Given the description of an element on the screen output the (x, y) to click on. 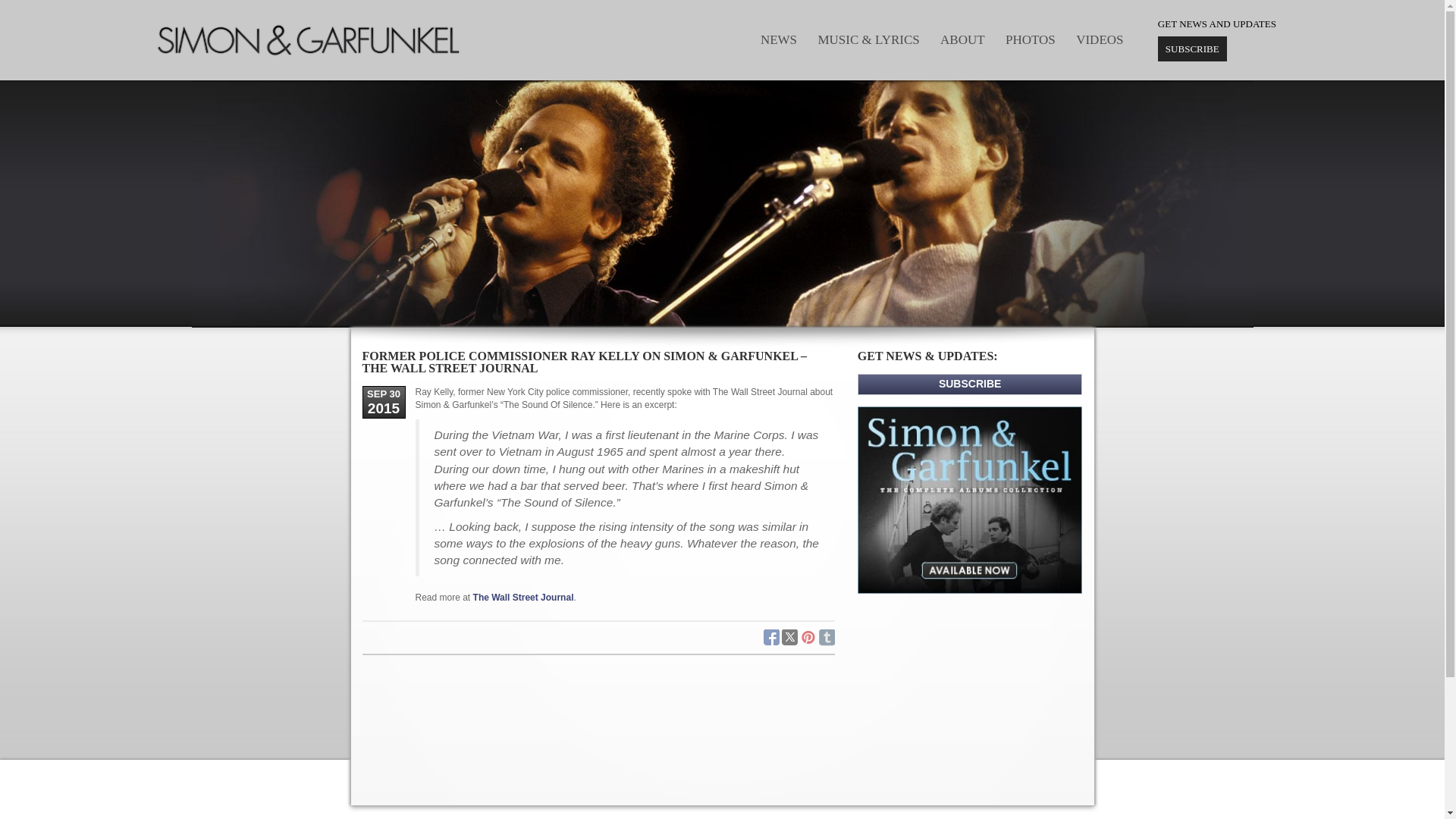
TUMBLR (826, 637)
SUBSCRIBE (970, 383)
The Wall Street Journal (523, 597)
PINTEREST (807, 637)
SUBSCRIBE (1192, 48)
PHOTOS (1029, 39)
TWITTER (789, 637)
ABOUT (962, 39)
VIDEOS (1099, 39)
NEWS (778, 39)
